Given the description of an element on the screen output the (x, y) to click on. 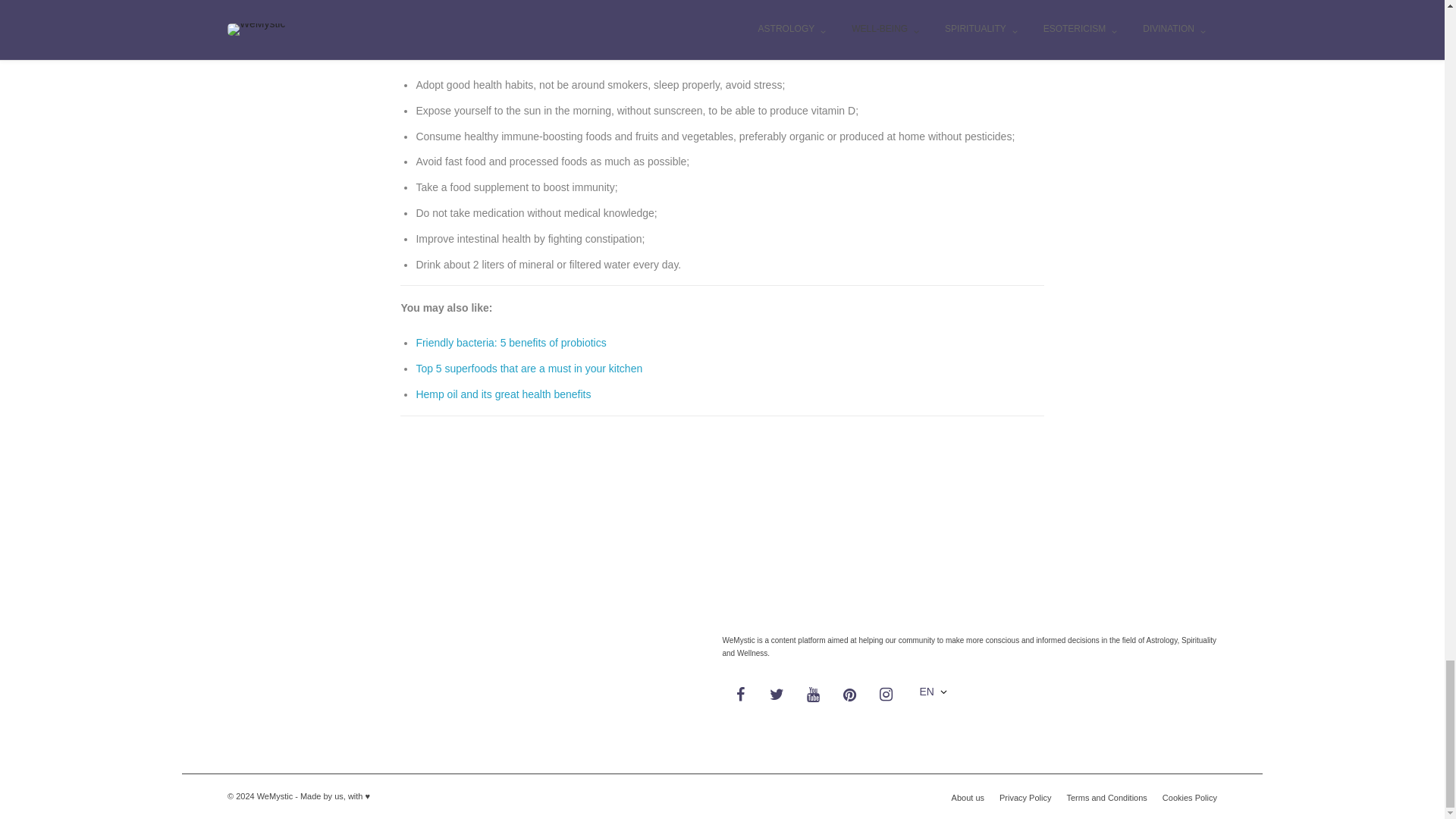
Top 5 superfoods that are a must in your kitchen (528, 368)
Hemp oil and its great health benefits (502, 394)
Friendly bacteria: 5 benefits of probiotics (509, 342)
